Given the description of an element on the screen output the (x, y) to click on. 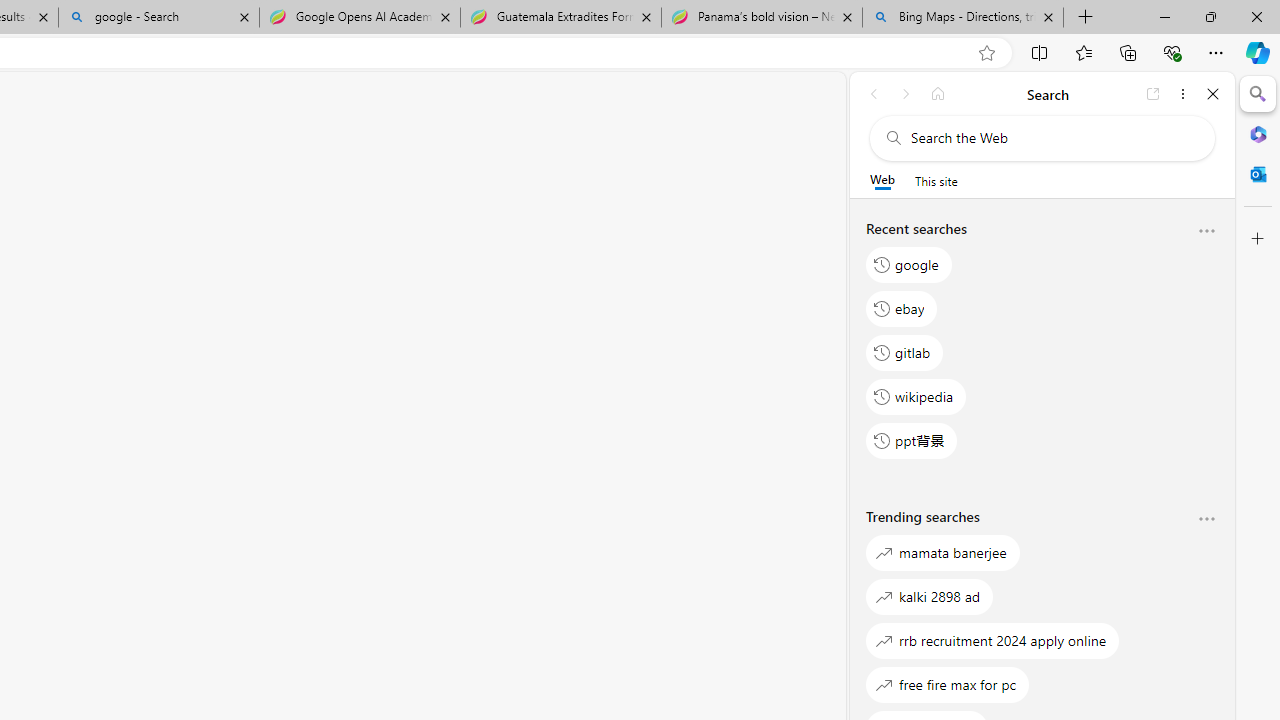
rrb recruitment 2024 apply online (993, 640)
